Given the description of an element on the screen output the (x, y) to click on. 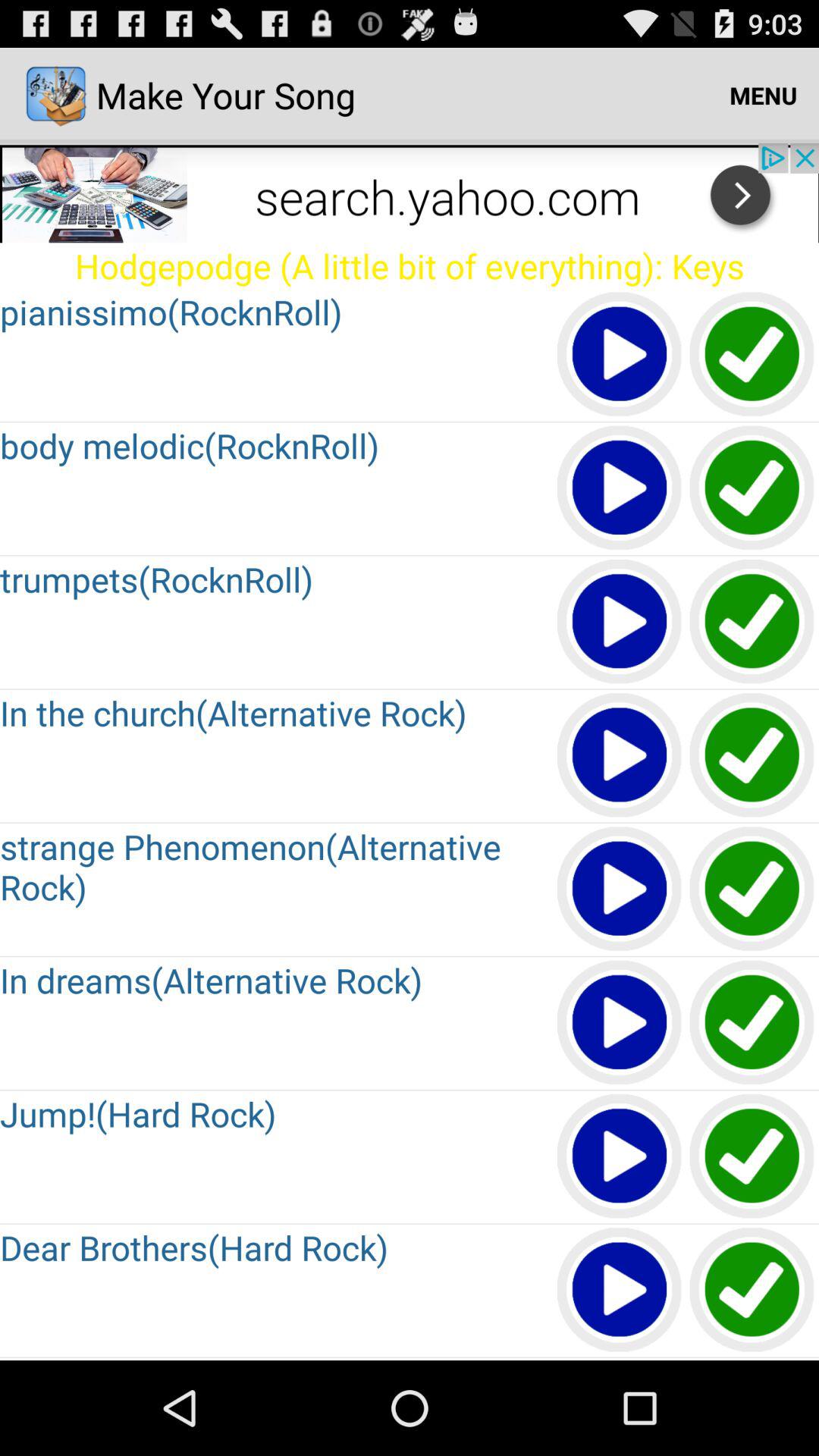
play button (619, 889)
